Given the description of an element on the screen output the (x, y) to click on. 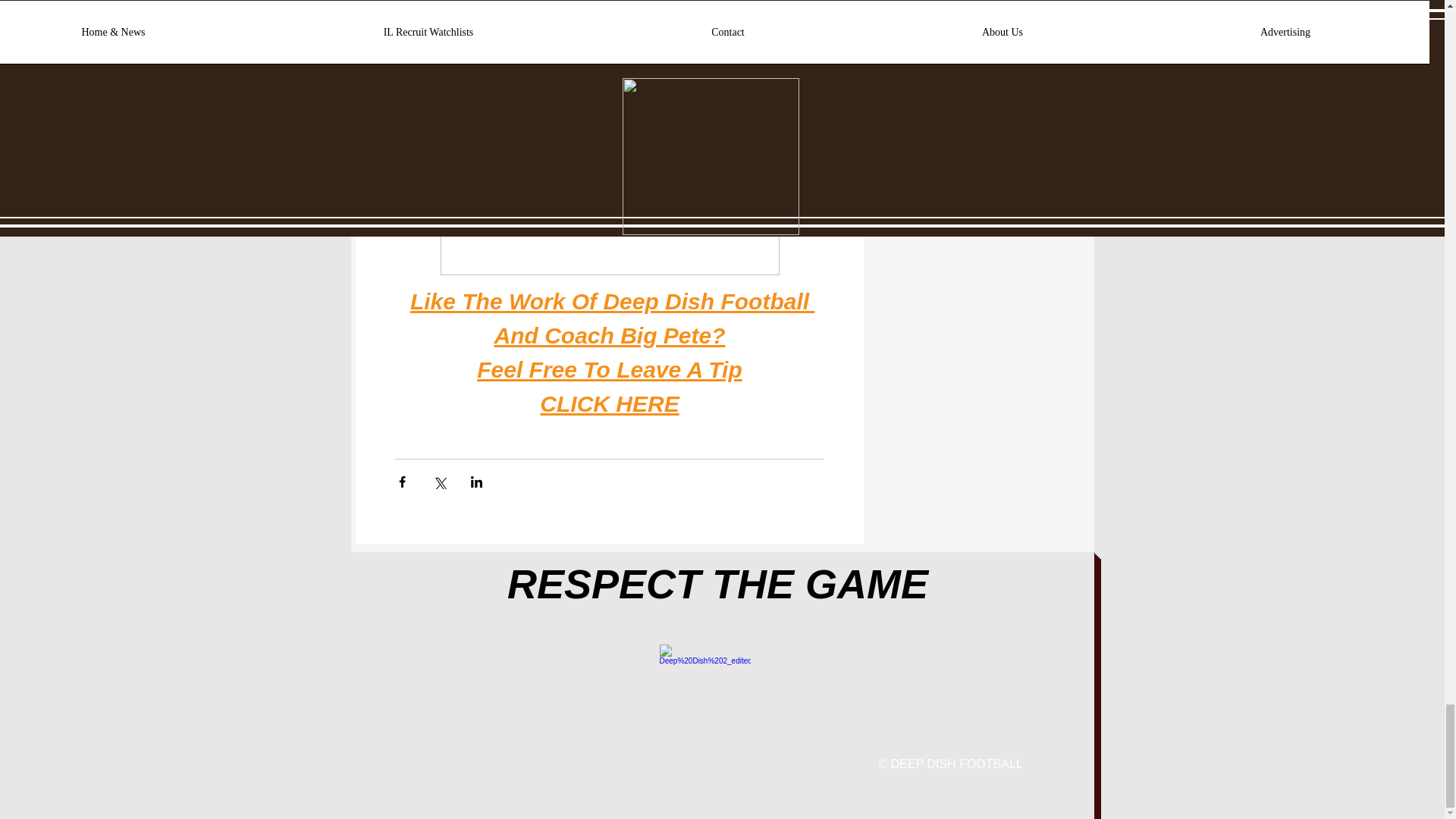
CLICK HERE (609, 408)
Feel Free To Leave A Tip (609, 373)
Like The Work Of Deep Dish Football And Coach Big Pete? (611, 322)
